Given the description of an element on the screen output the (x, y) to click on. 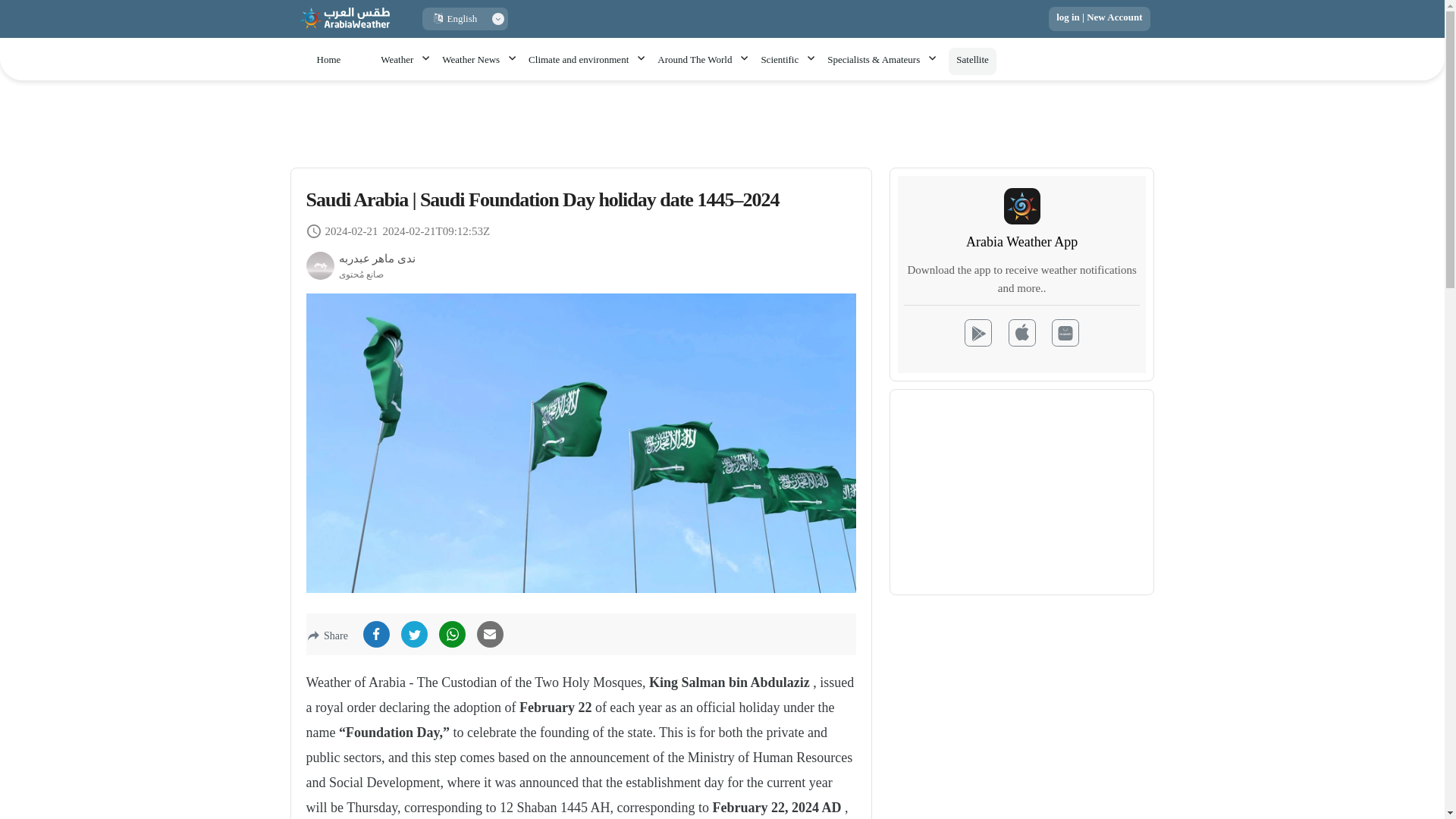
Weather (404, 59)
Weather (404, 59)
Climate and environment (585, 59)
Around The World (701, 59)
Scientific (786, 59)
Home (327, 59)
Climate and environment (585, 59)
Weather News (477, 59)
Weather News (477, 59)
Home (327, 59)
